Given the description of an element on the screen output the (x, y) to click on. 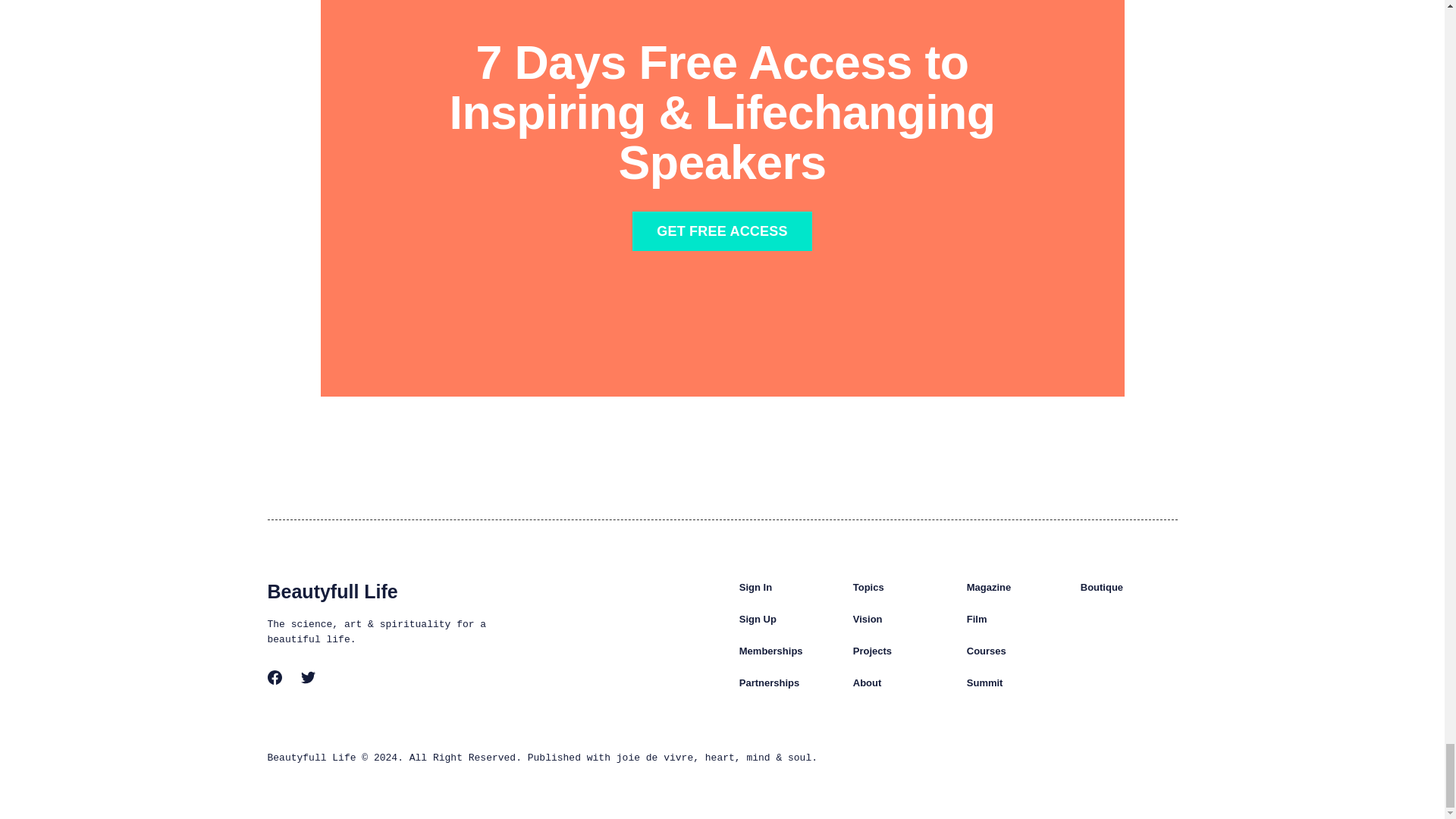
Topics (868, 586)
Boutique (1101, 586)
Sign Up (757, 618)
Memberships (771, 650)
GET FREE ACCESS (721, 230)
Sign In (755, 586)
Film (976, 618)
Projects (872, 650)
Beautyfull Life (331, 590)
Vision (867, 618)
